Given the description of an element on the screen output the (x, y) to click on. 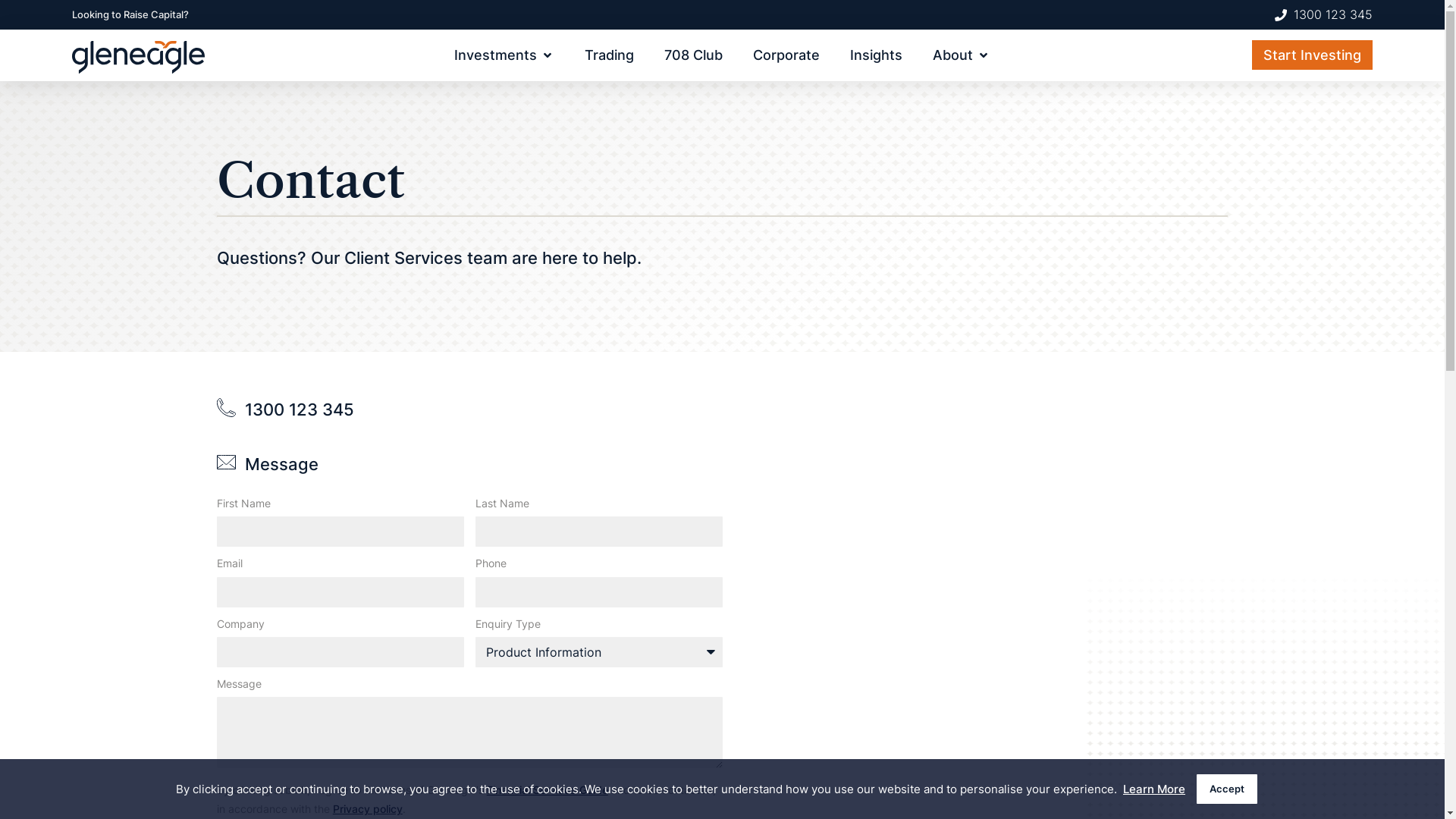
Insights Element type: text (876, 54)
Financial Services Guide Element type: text (547, 789)
Looking to Raise Capital? Element type: text (130, 14)
Learn More Element type: text (1151, 788)
Privacy policy Element type: text (367, 808)
1300 123 345 Element type: text (299, 408)
Trading Element type: text (608, 54)
1300 123 345 Element type: text (1323, 14)
Investments Element type: text (495, 54)
Corporate Element type: text (786, 54)
Start Investing Element type: text (1312, 54)
708 Club Element type: text (693, 54)
About Element type: text (952, 54)
